Given the description of an element on the screen output the (x, y) to click on. 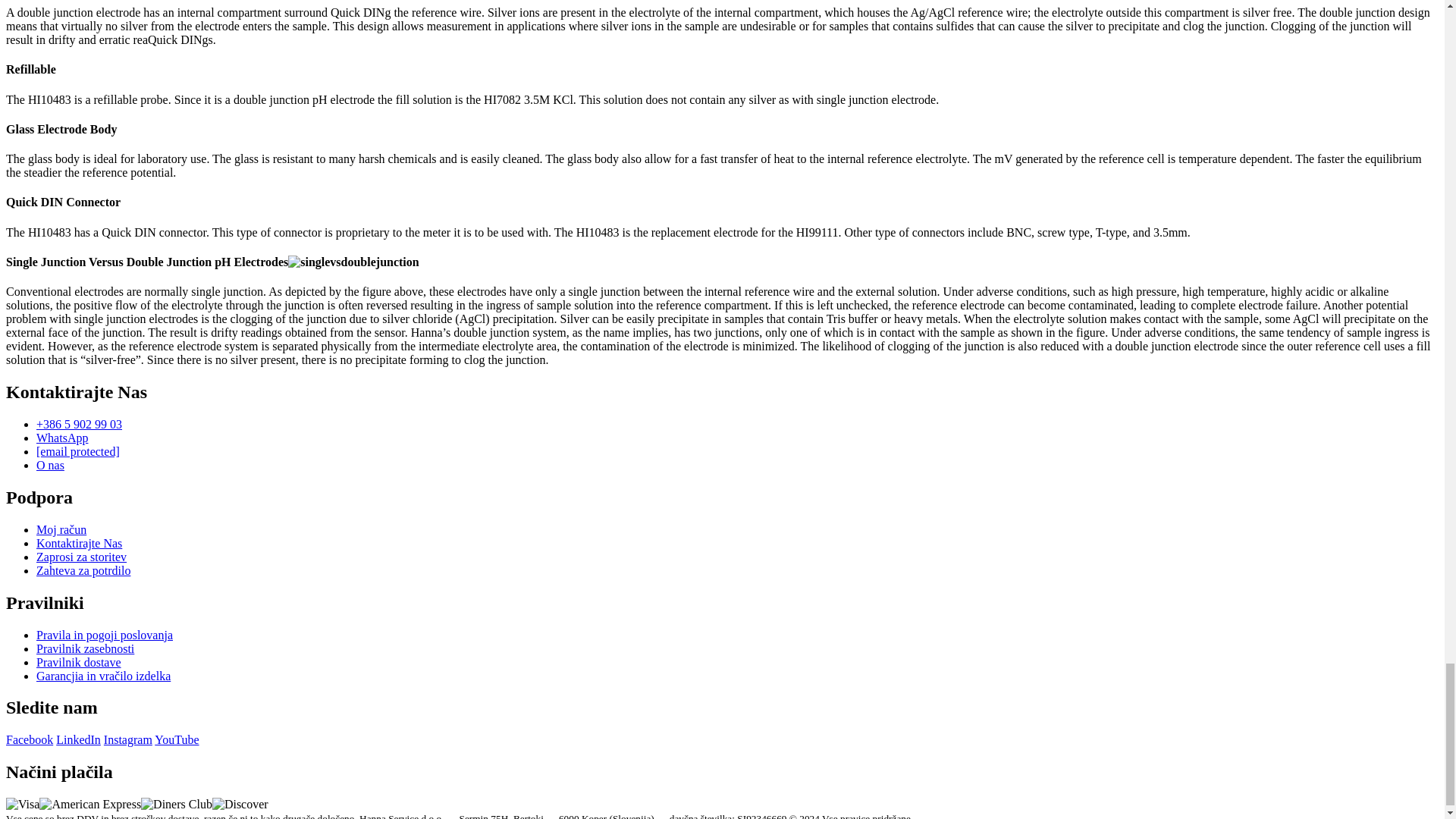
Zaprosi za storitev (81, 556)
Facebook (28, 739)
Kontaktirajte Nas (79, 543)
WhatsApp (61, 437)
LinkedIn (78, 739)
YouTube (176, 739)
O nas (50, 464)
Zahteva za potrdilo (83, 570)
Instagram (127, 739)
